Given the description of an element on the screen output the (x, y) to click on. 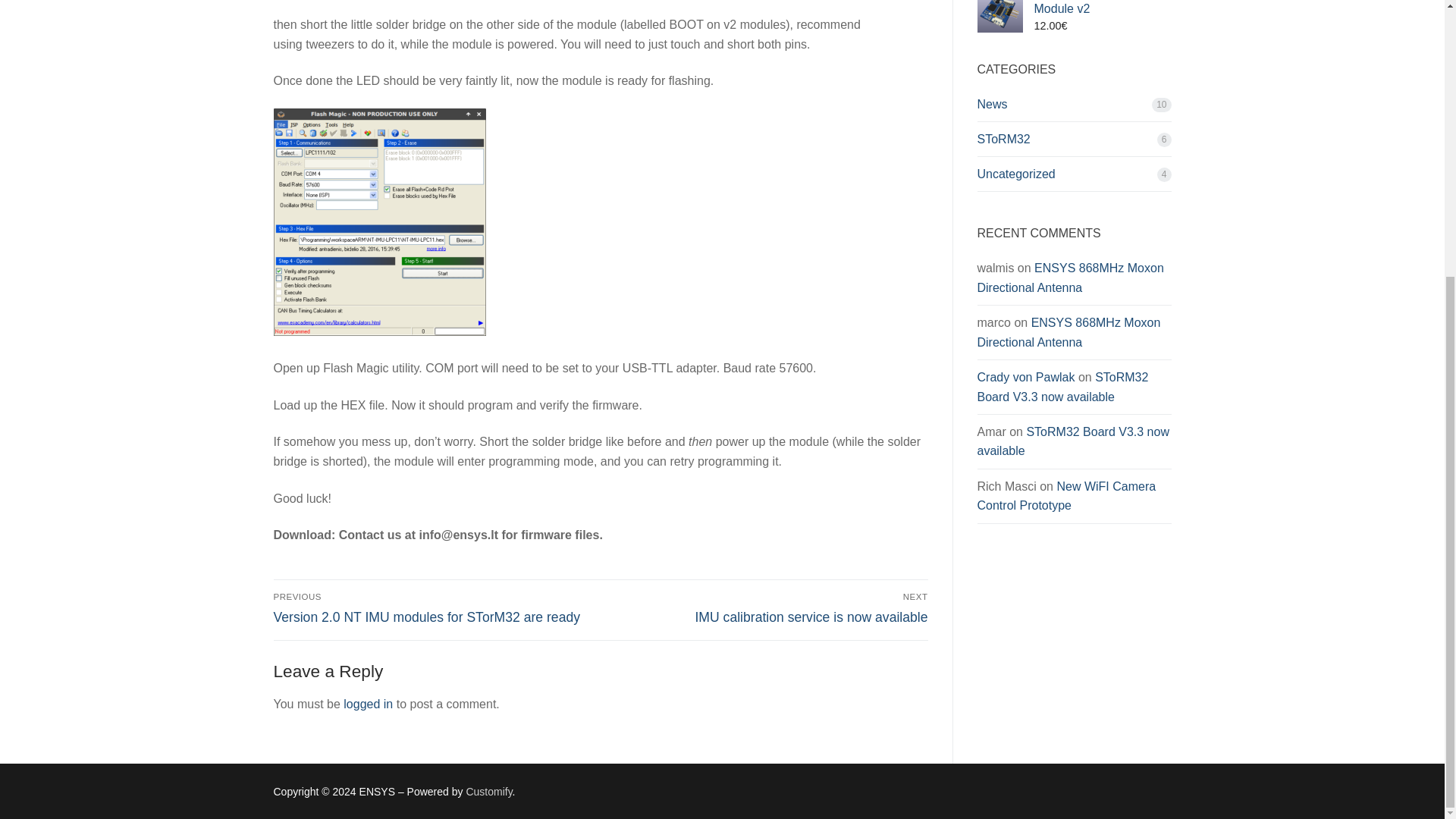
logged in (767, 608)
